Given the description of an element on the screen output the (x, y) to click on. 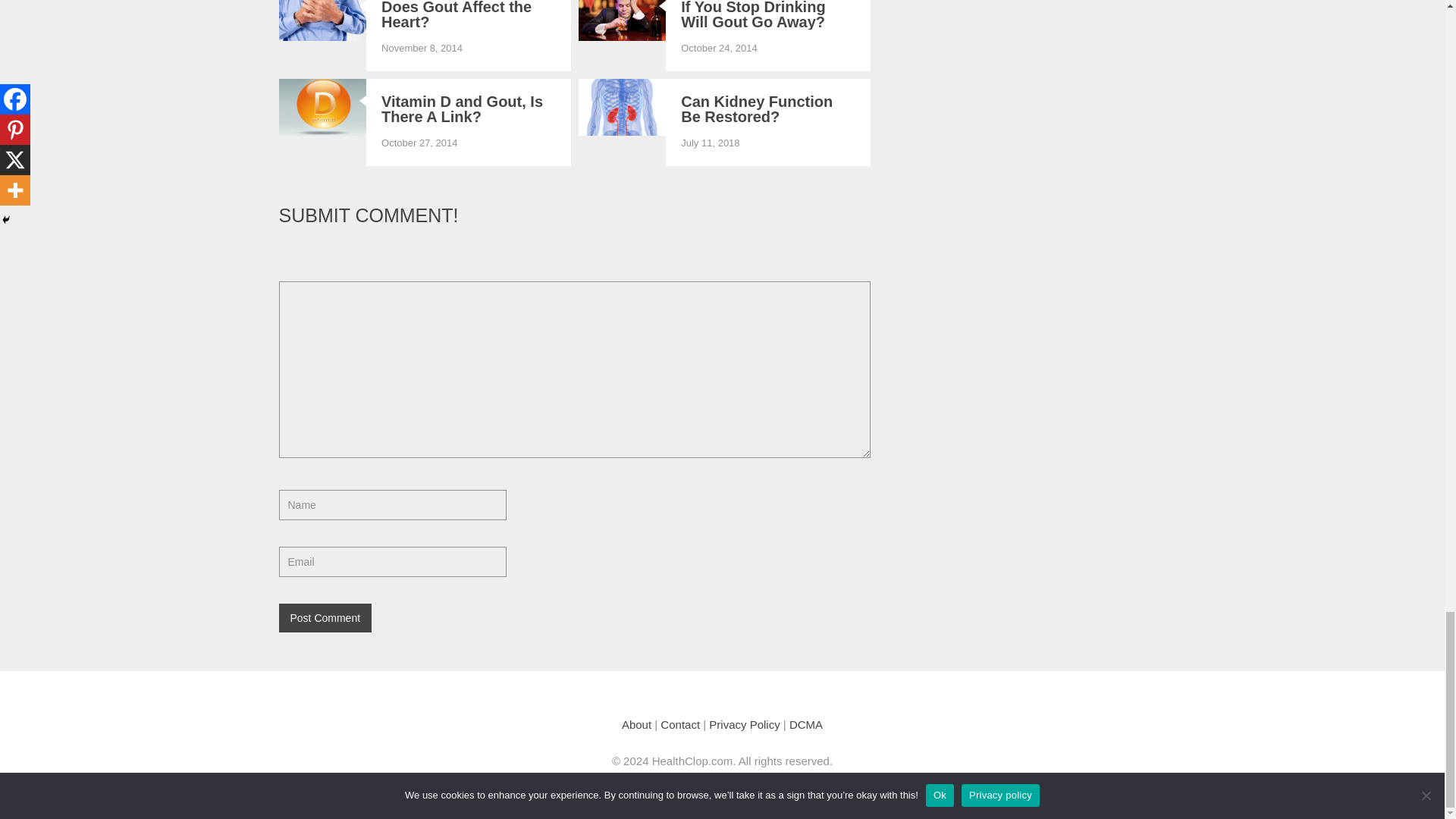
Vitamin D and Gout, Is There A Link? (468, 109)
Can Kidney Function Be Restored? (768, 109)
Does Gout Affect the Heart? (468, 14)
DCMA (805, 724)
Post Comment (325, 617)
About (635, 724)
Post Comment (325, 617)
If You Stop Drinking Will Gout Go Away? (768, 14)
Does Gout Affect the Heart? (468, 14)
Contact (680, 724)
Privacy Policy (743, 724)
If You Stop Drinking Will Gout Go Away? (768, 14)
